Given the description of an element on the screen output the (x, y) to click on. 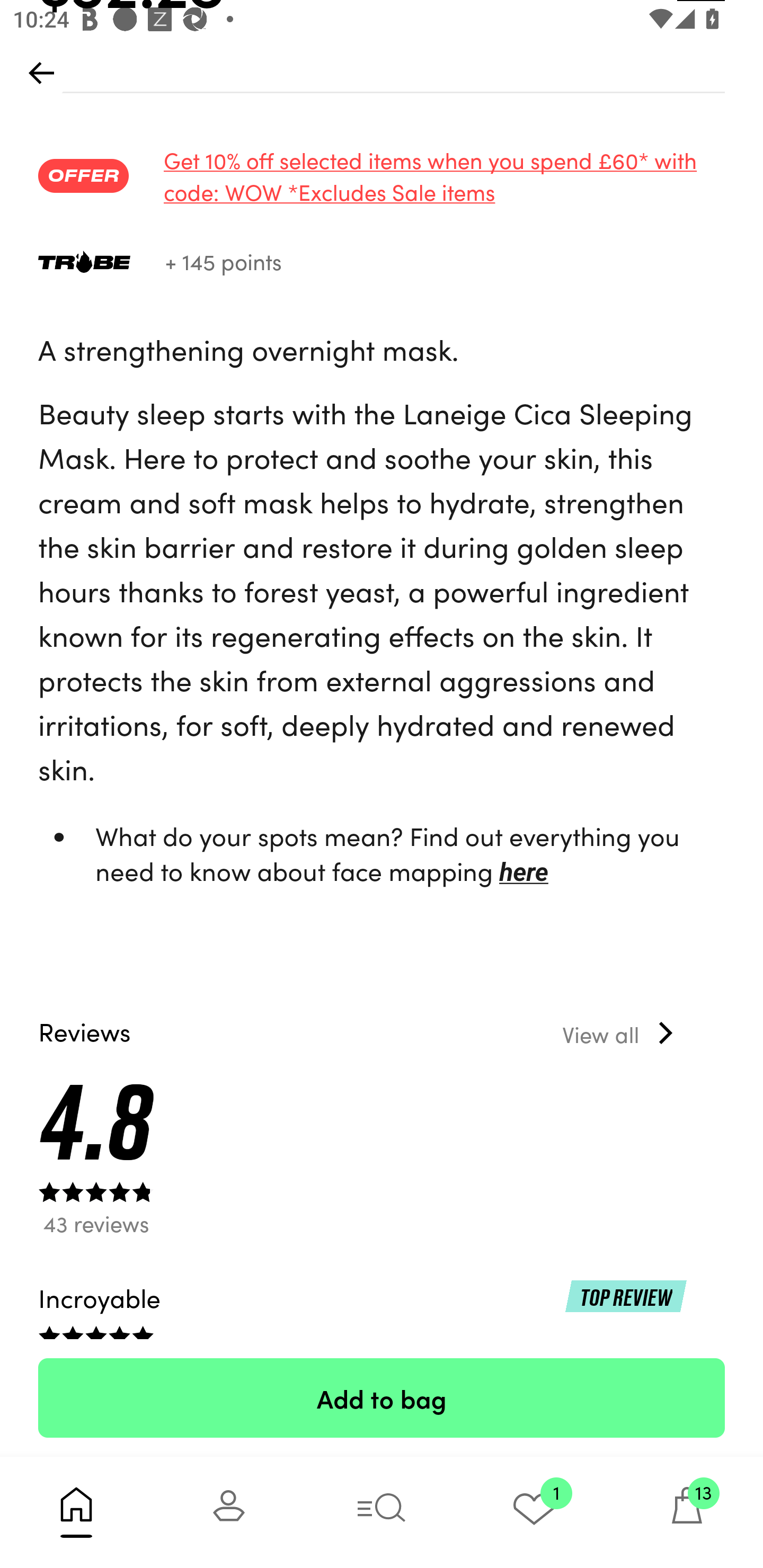
Add to bag (381, 1397)
1 (533, 1512)
13 (686, 1512)
